Given the description of an element on the screen output the (x, y) to click on. 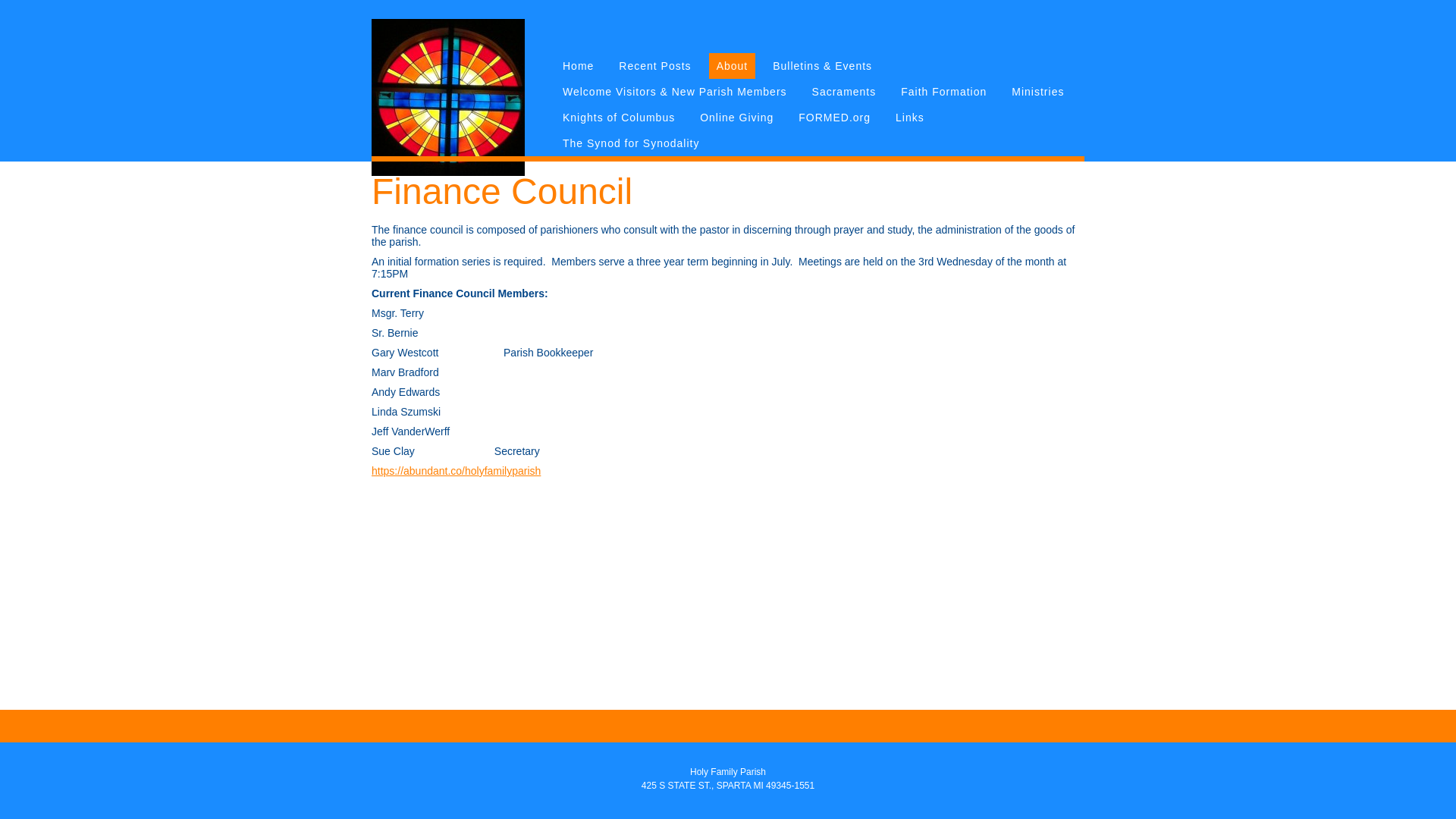
Faith Formation (943, 91)
Home (577, 65)
About (732, 65)
Recent Posts (654, 65)
Ministries (1037, 91)
Sacraments (844, 91)
